Given the description of an element on the screen output the (x, y) to click on. 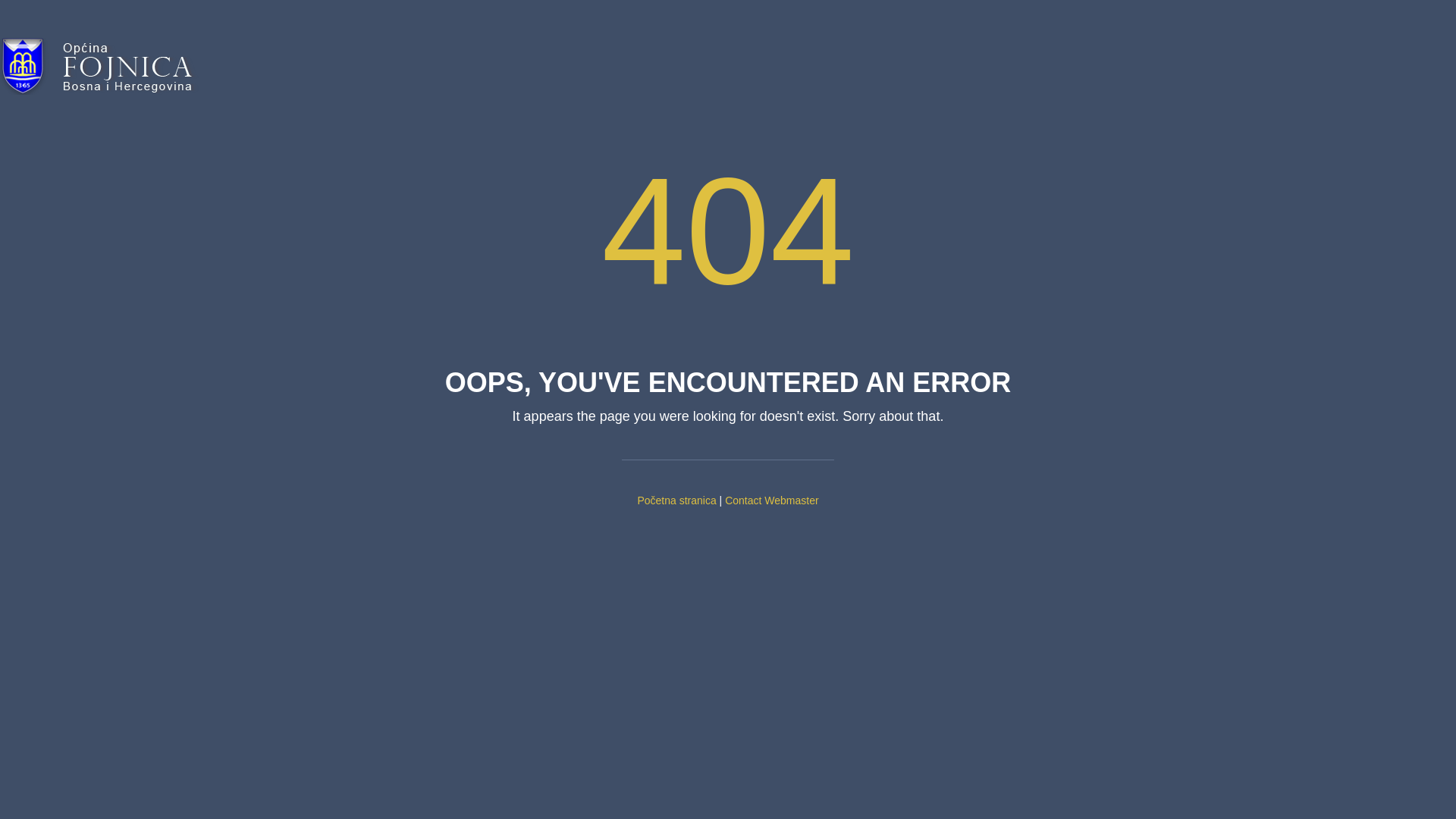
Contact Webmaster Element type: text (771, 500)
